Given the description of an element on the screen output the (x, y) to click on. 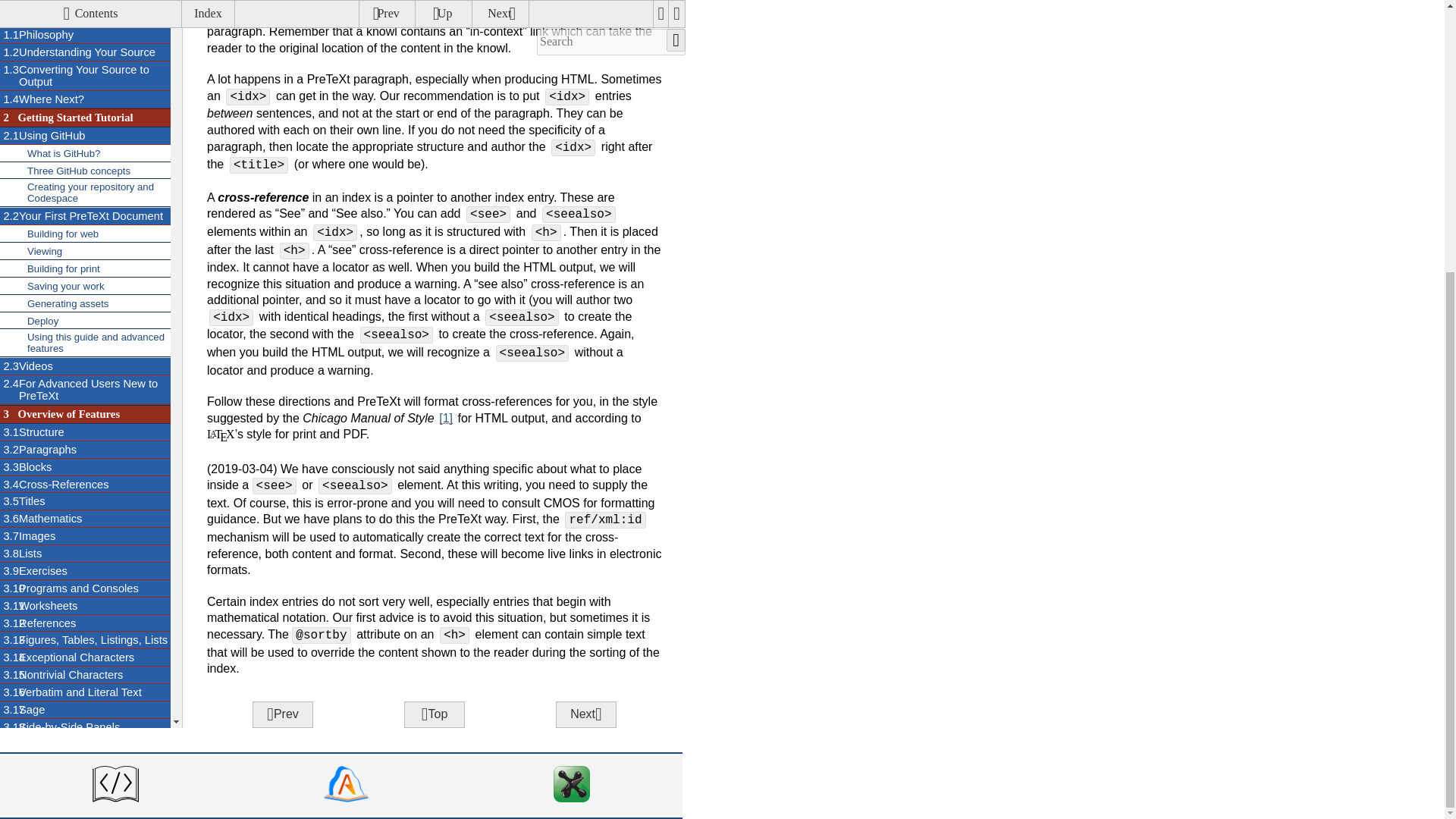
Previous (282, 714)
PreTeXt (115, 785)
Viewing (85, 4)
Next (585, 714)
MathJax (571, 785)
Runestone Academy (345, 785)
Top (434, 714)
Bibliographic Entry 1: The Chicago Manual of Style (446, 418)
